Given the description of an element on the screen output the (x, y) to click on. 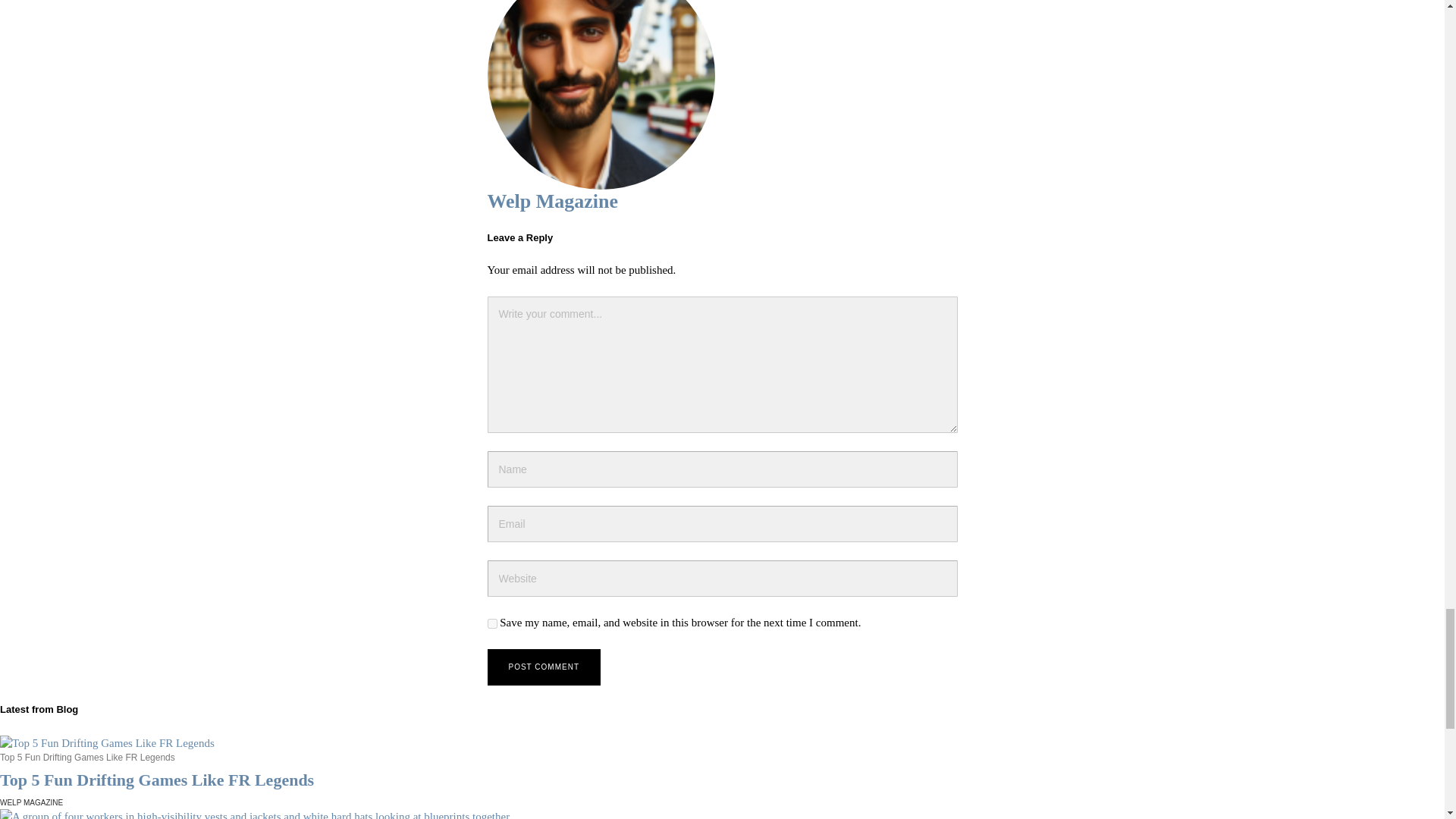
yes (491, 623)
Post Comment (542, 667)
